Given the description of an element on the screen output the (x, y) to click on. 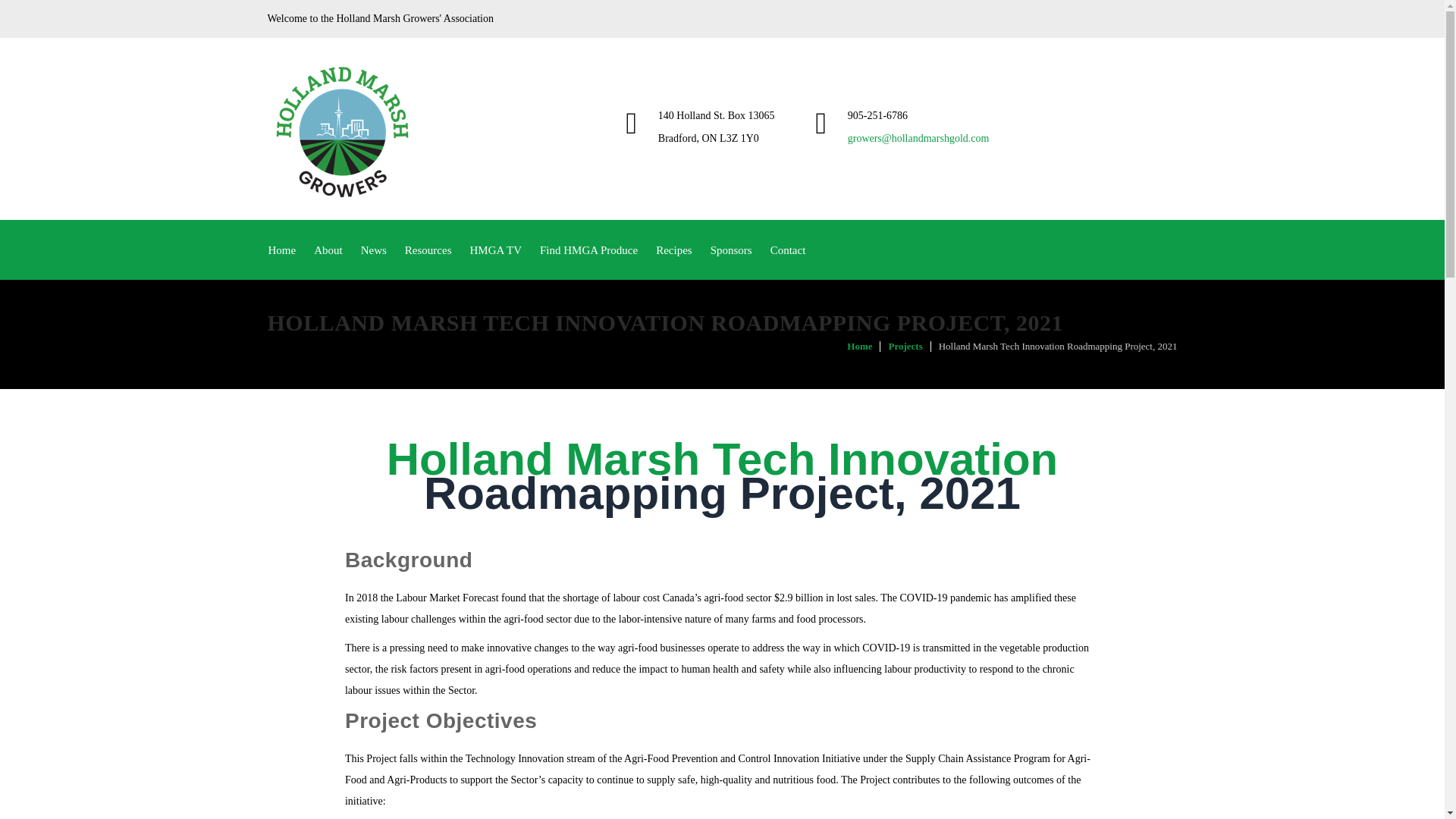
Resources (428, 250)
Find HMGA Produce (588, 250)
Contact (787, 250)
Recipes (672, 250)
HMGA TV (496, 250)
News (373, 250)
Sponsors (731, 250)
Home (282, 250)
About (327, 250)
